Given the description of an element on the screen output the (x, y) to click on. 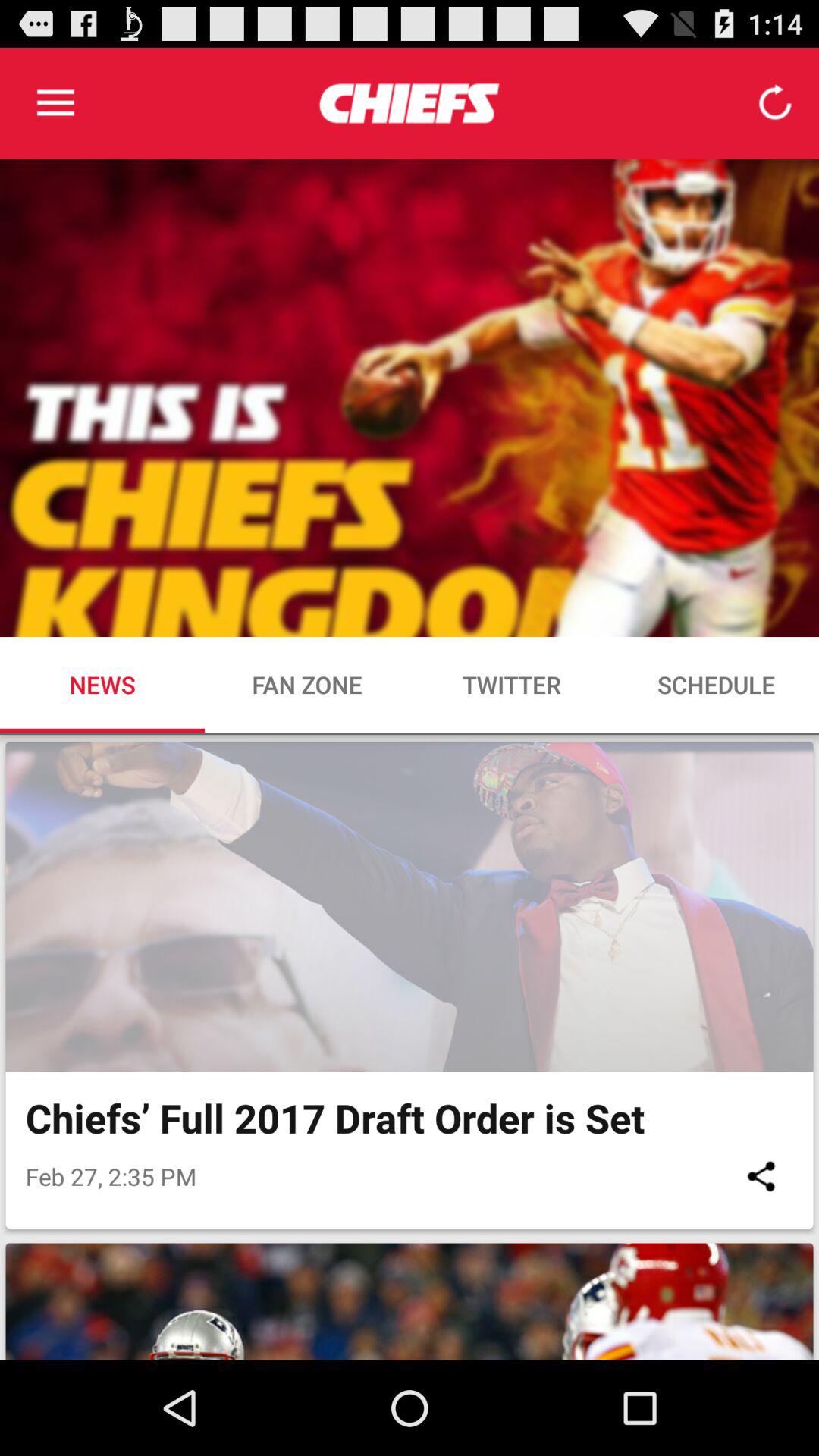
launch the item to the right of feb 27 2 icon (761, 1176)
